Given the description of an element on the screen output the (x, y) to click on. 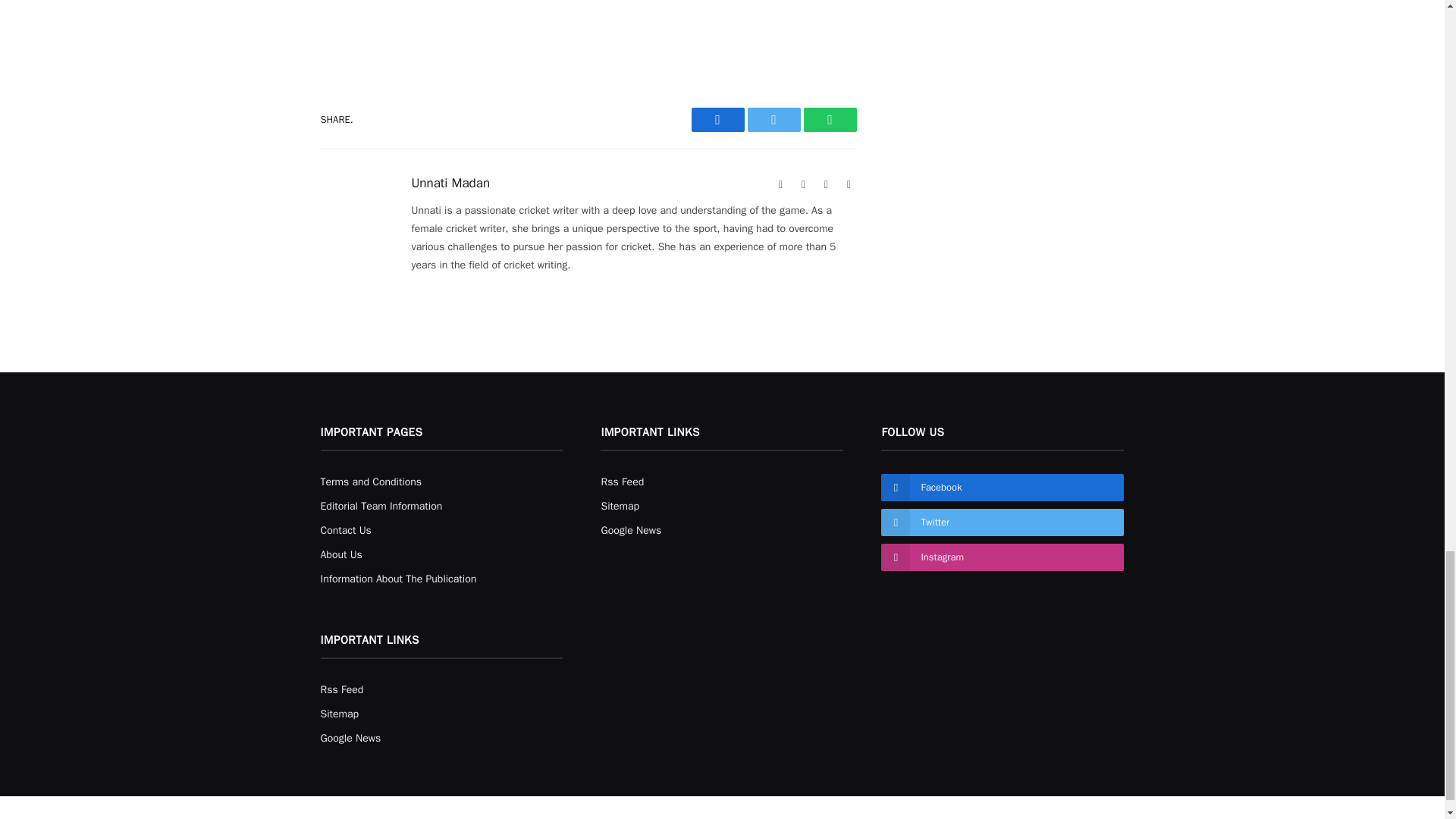
Share on Facebook (717, 119)
WhatsApp (830, 119)
Facebook (717, 119)
Instagram (849, 184)
Facebook (803, 184)
Twitter (774, 119)
Website (781, 184)
Unnati Madan (449, 183)
Share on WhatsApp (830, 119)
Posts by Unnati Madan (449, 183)
